Given the description of an element on the screen output the (x, y) to click on. 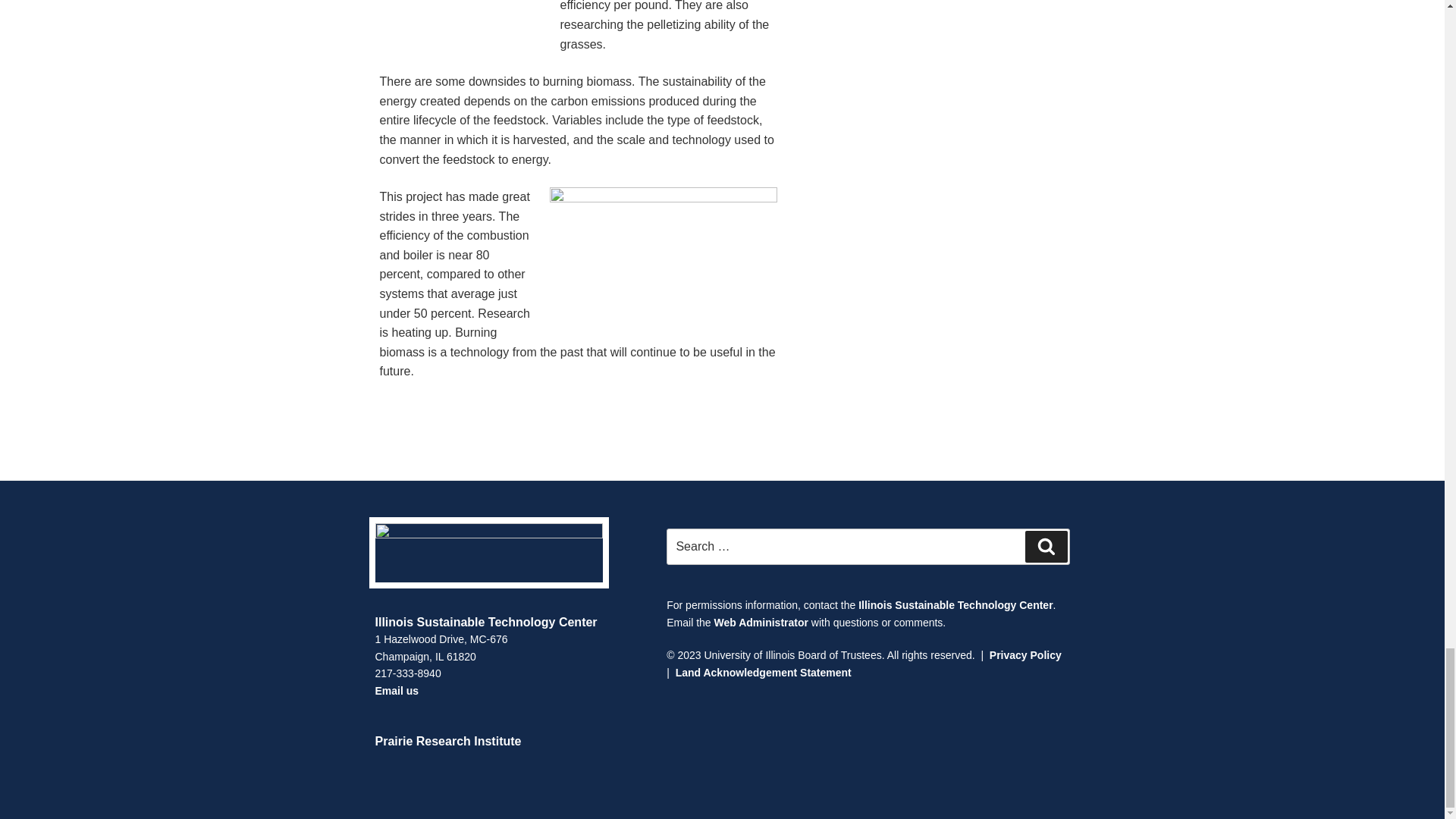
Prairie Research Institute (447, 740)
Illinois Sustainable Technology Center (485, 621)
Search (1046, 546)
Illinois Sustainable Technology Center (955, 604)
Land Acknowledgement Statement (763, 672)
Web Administrator (760, 622)
Privacy Policy (1025, 654)
Email us (396, 690)
